Given the description of an element on the screen output the (x, y) to click on. 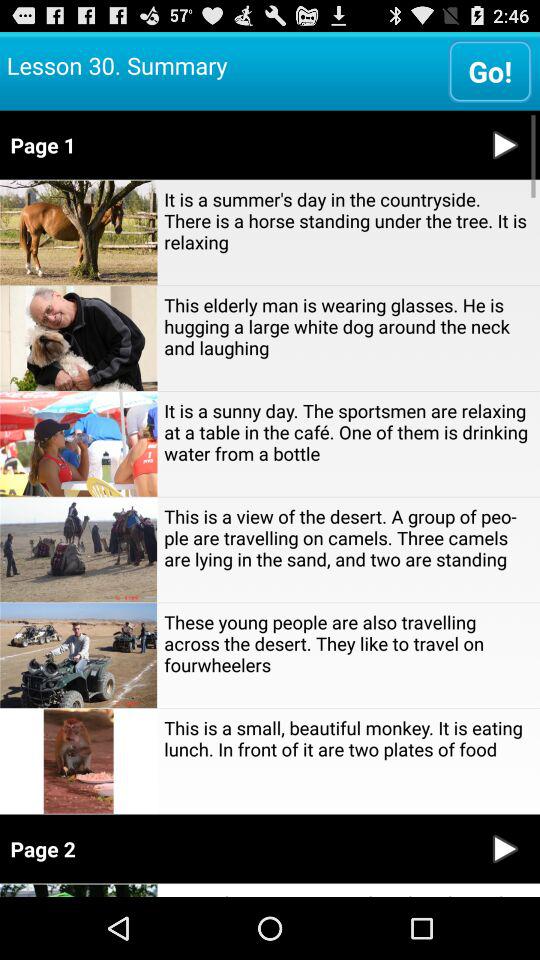
click the go! (490, 70)
